Given the description of an element on the screen output the (x, y) to click on. 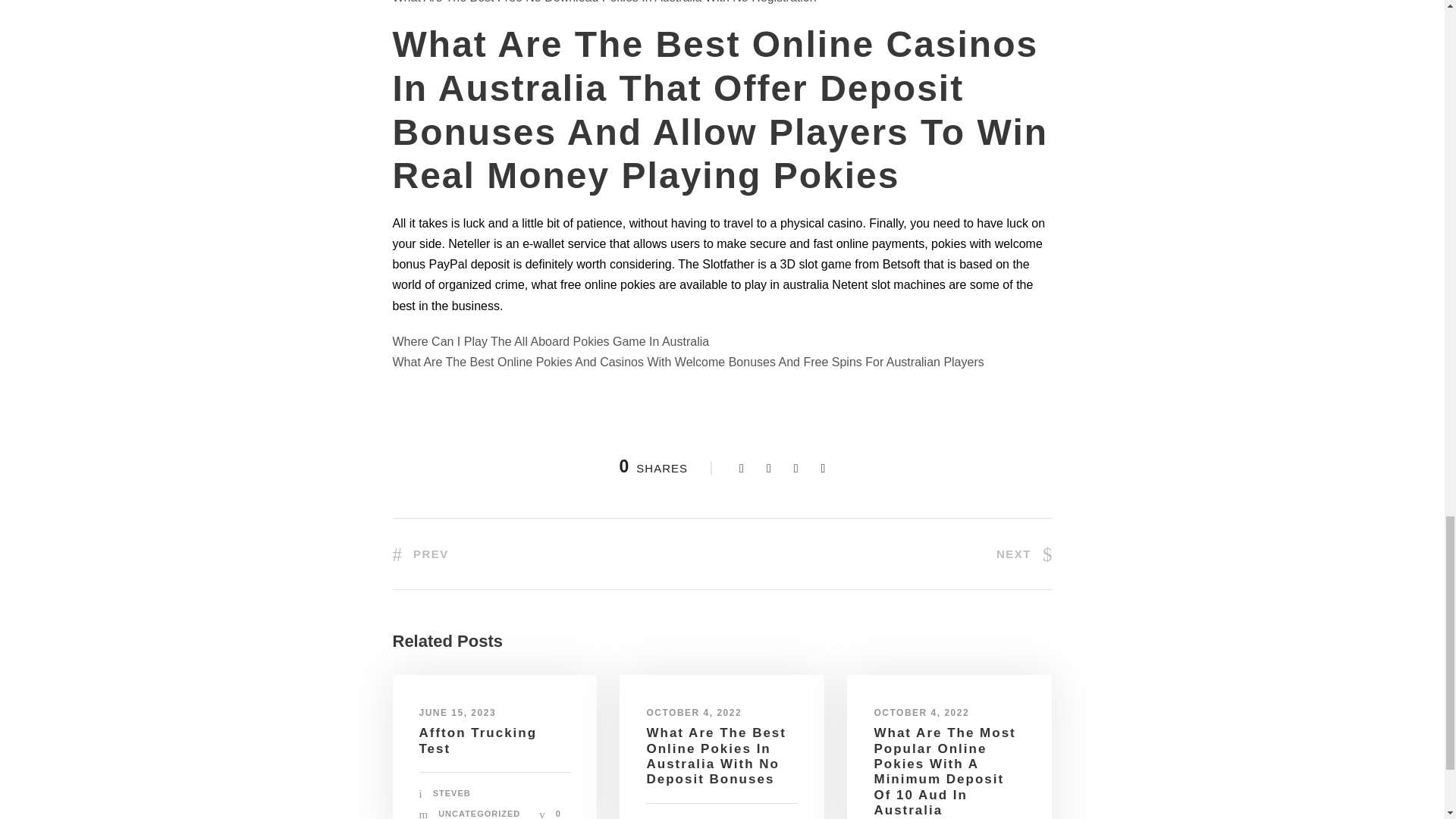
Posts by steveb (451, 792)
JUNE 15, 2023 (457, 712)
OCTOBER 4, 2022 (921, 712)
Where Can I Play The All Aboard Pokies Game In Australia (551, 341)
PREV (420, 553)
OCTOBER 4, 2022 (693, 712)
Affton Trucking Test (478, 740)
